Given the description of an element on the screen output the (x, y) to click on. 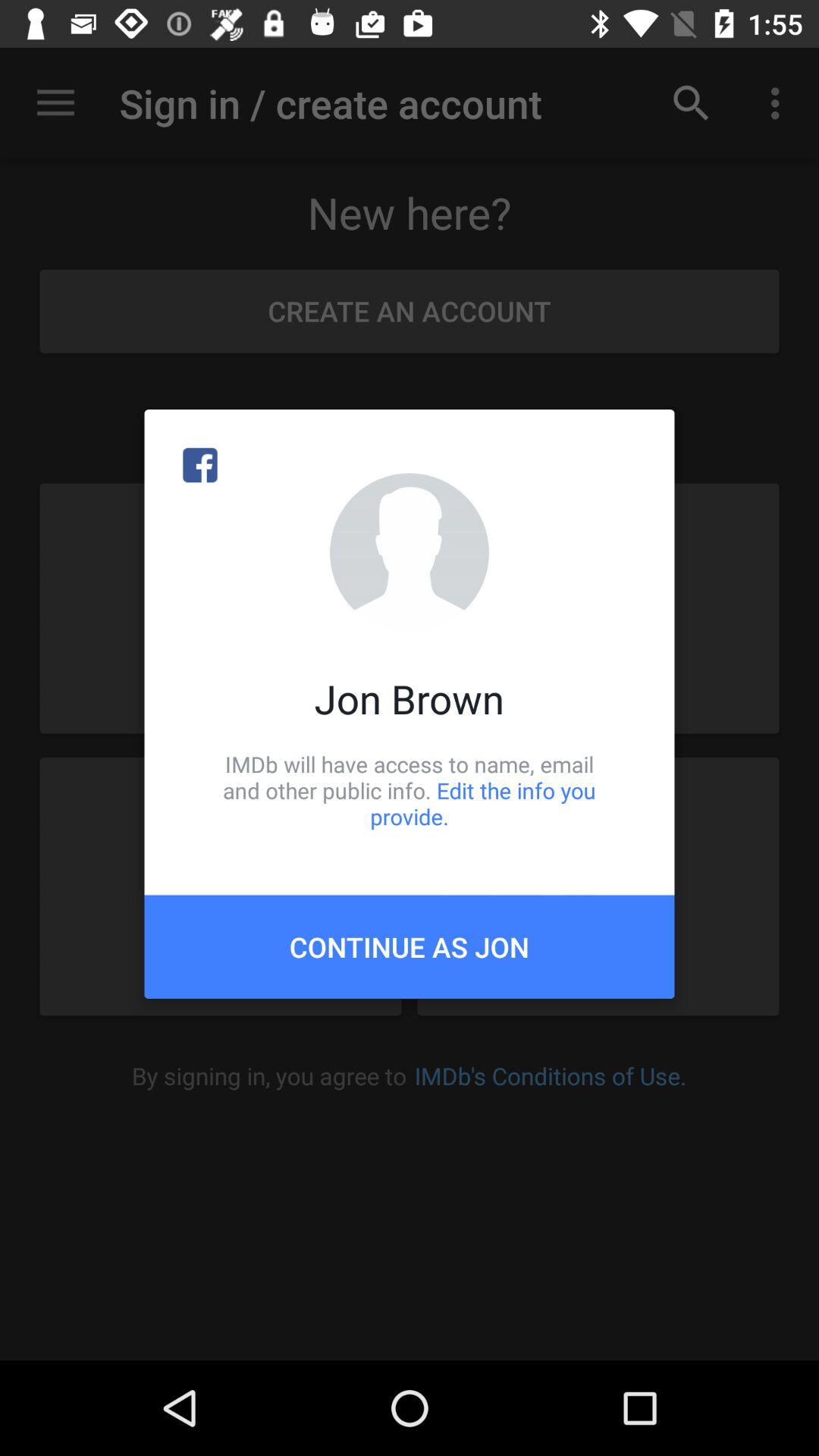
select item above the continue as jon (409, 790)
